Given the description of an element on the screen output the (x, y) to click on. 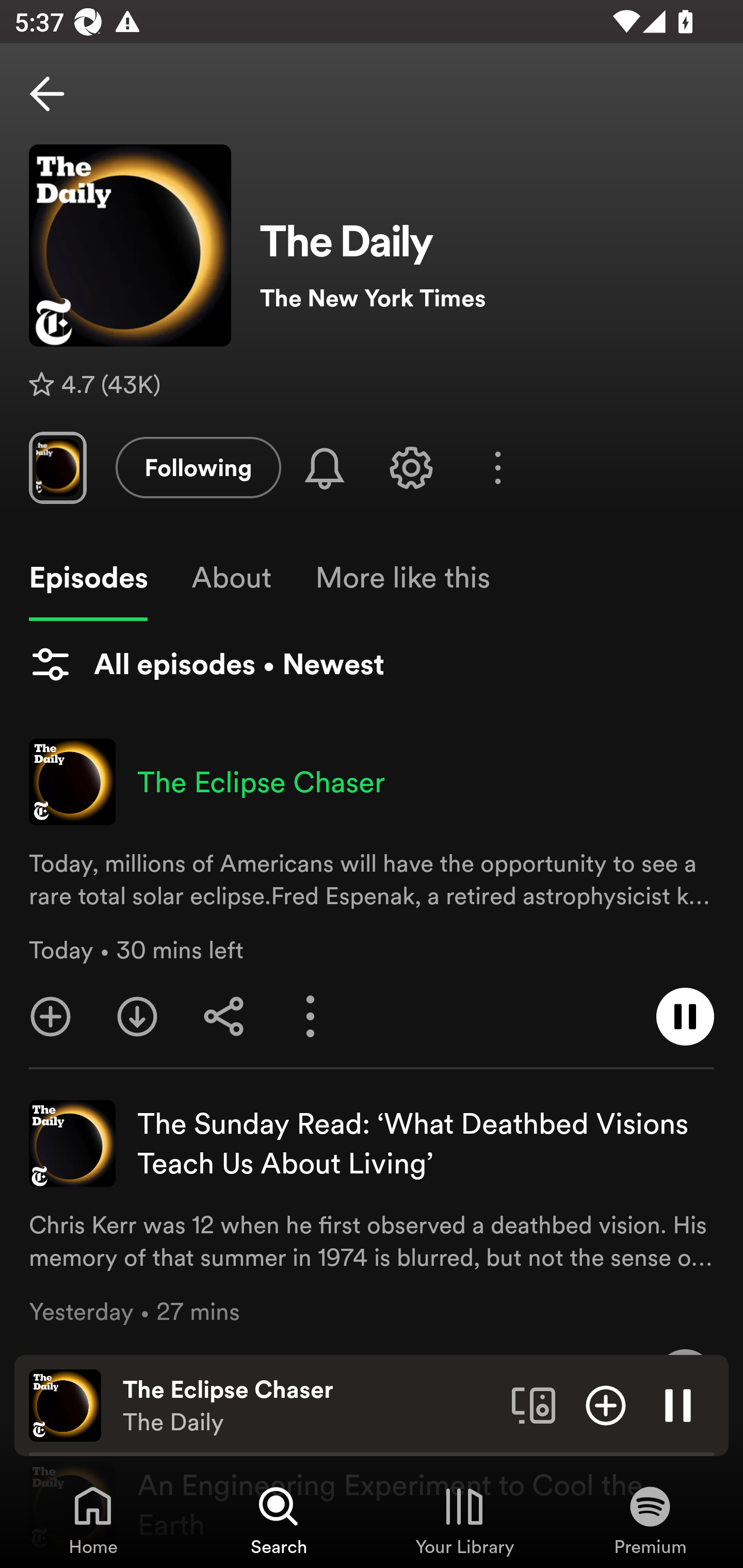
Back (46, 93)
The New York Times (487, 297)
Following Unfollow this show (197, 466)
Settings for this Show. (410, 467)
More options for show The Daily (497, 467)
About (231, 577)
More like this (402, 577)
All episodes • Newest (206, 663)
Add The Eclipse Chaser to Your Episodes (50, 1016)
Download episode: The Eclipse Chaser (136, 1016)
Share (223, 1016)
More options for episode The Eclipse Chaser (310, 1016)
Pause episode: The Eclipse Chaser (684, 1016)
The Eclipse Chaser The Daily (309, 1405)
The cover art of the currently playing track (64, 1404)
Connect to a device. Opens the devices menu (533, 1404)
Add item (605, 1404)
Pause (677, 1404)
Home, Tab 1 of 4 Home Home (92, 1519)
Search, Tab 2 of 4 Search Search (278, 1519)
Your Library, Tab 3 of 4 Your Library Your Library (464, 1519)
Premium, Tab 4 of 4 Premium Premium (650, 1519)
